Given the description of an element on the screen output the (x, y) to click on. 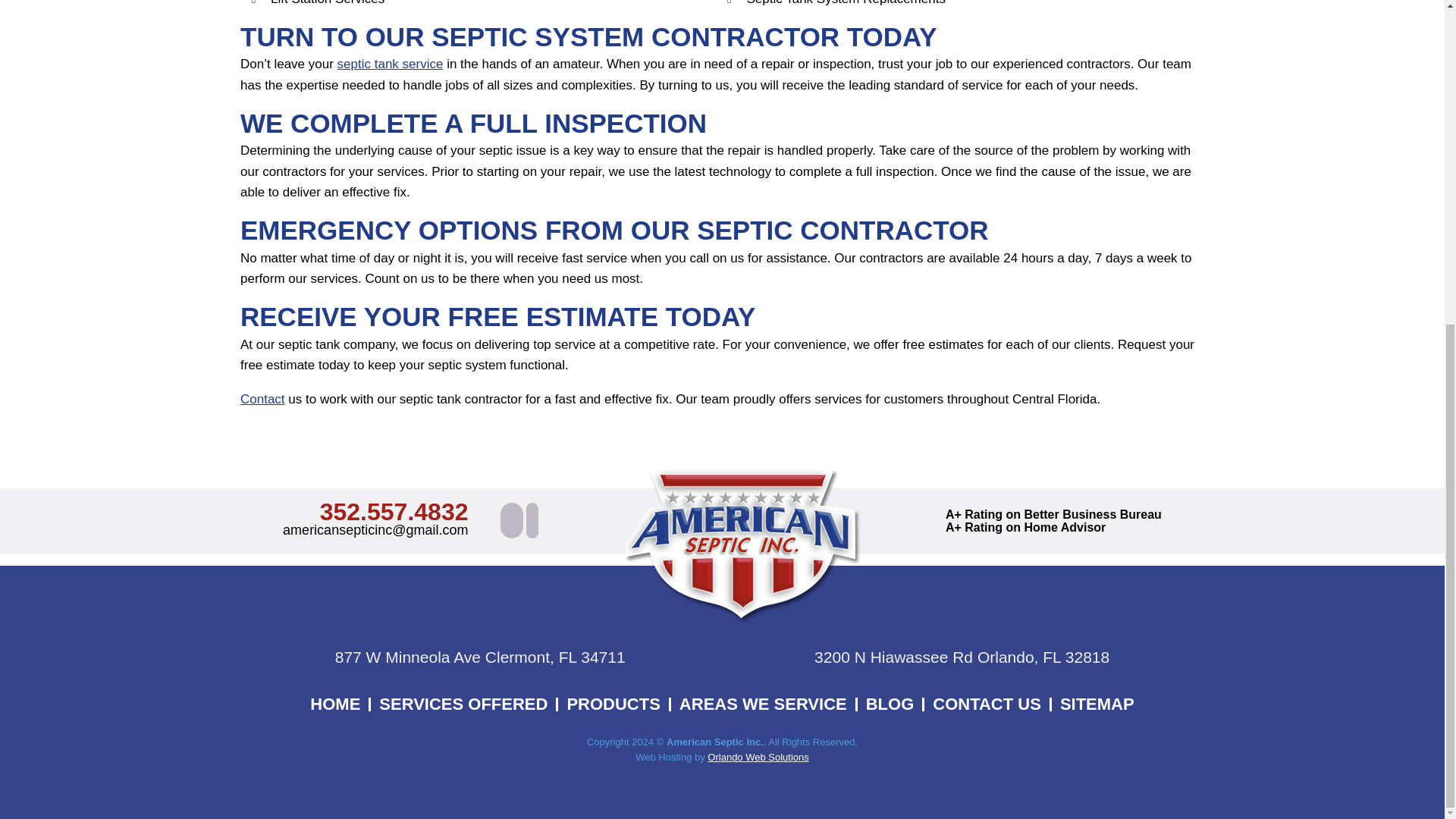
Contact (262, 399)
septic tank service (390, 63)
HOME (334, 704)
352.557.4832 (394, 511)
